Given the description of an element on the screen output the (x, y) to click on. 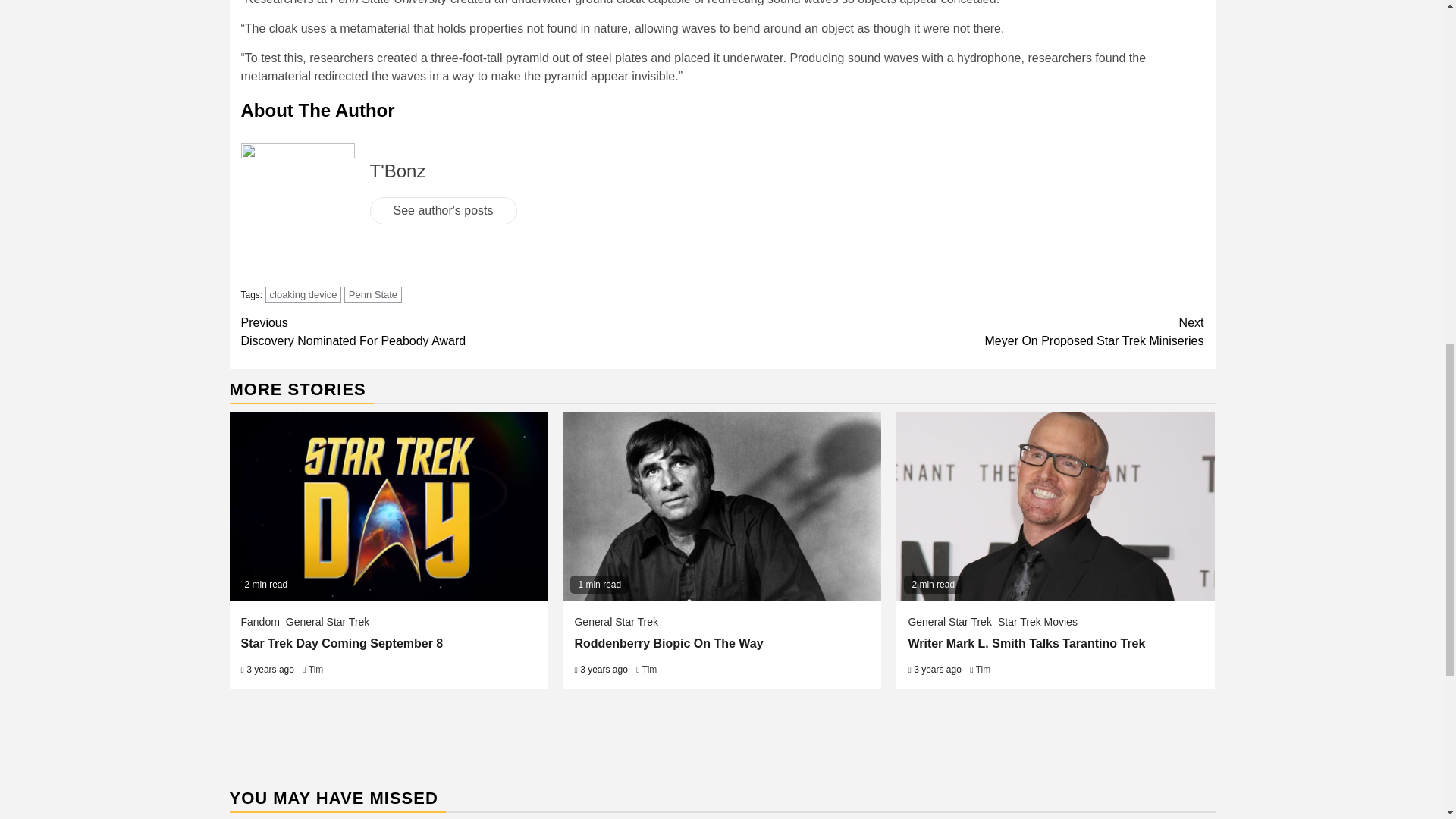
cloaking device (303, 294)
See author's posts (442, 210)
General Star Trek (481, 331)
Star Trek Day Coming September 8 (963, 331)
Fandom (327, 623)
Penn State (342, 643)
T'Bonz (260, 623)
